Given the description of an element on the screen output the (x, y) to click on. 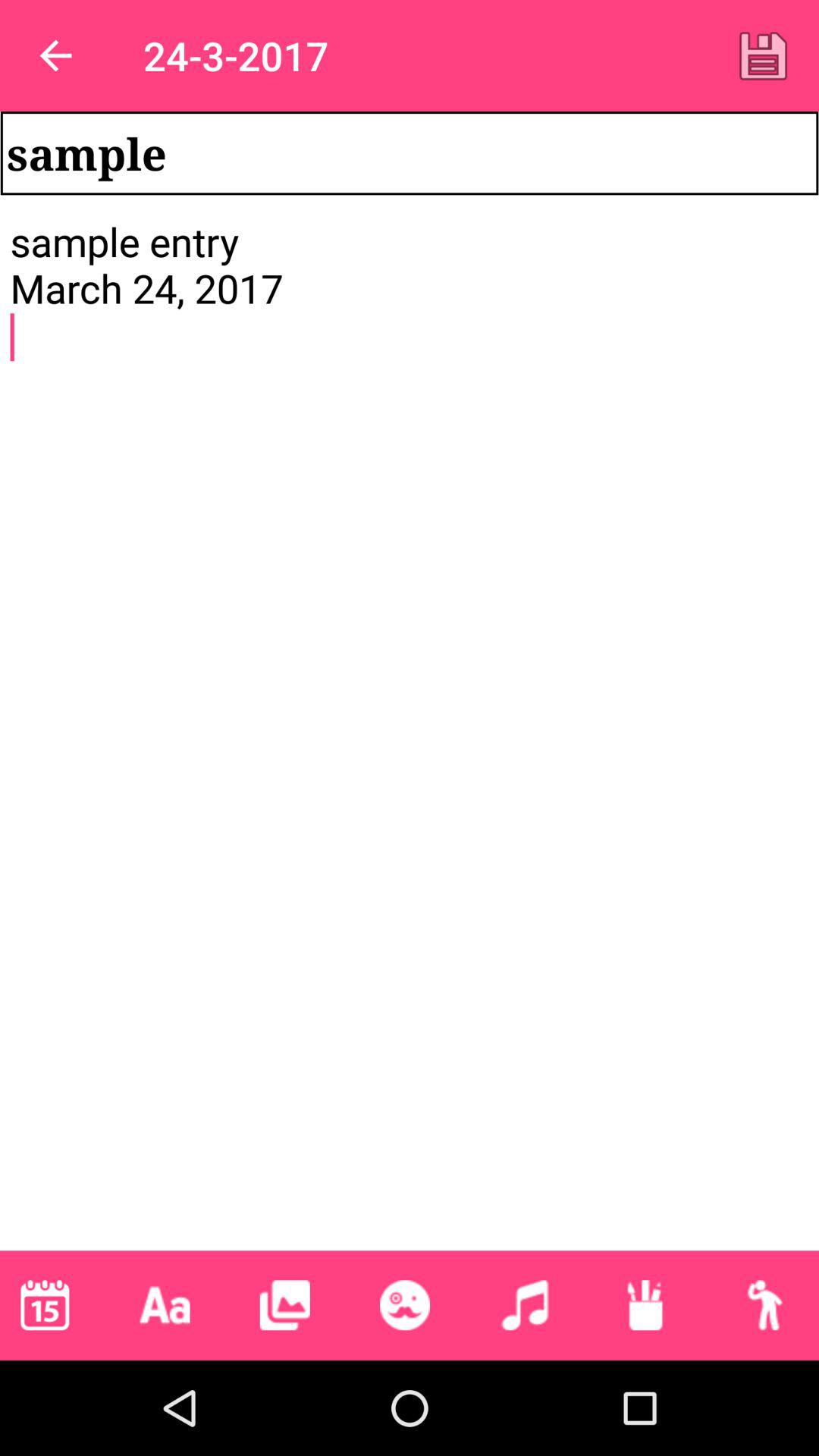
press icon below the sample (409, 732)
